Given the description of an element on the screen output the (x, y) to click on. 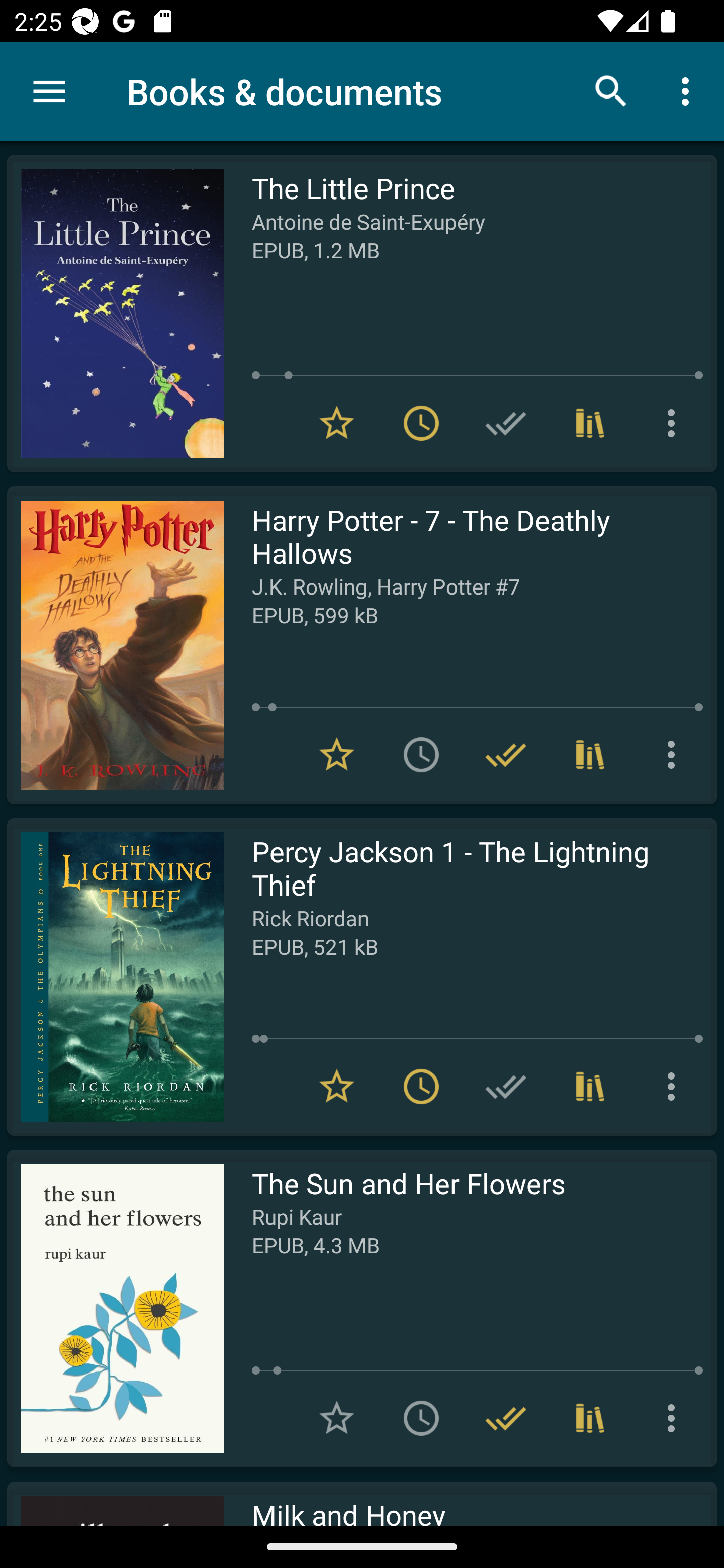
Menu (49, 91)
Search books & documents (611, 90)
More options (688, 90)
Read The Little Prince (115, 313)
Remove from Favorites (336, 423)
Remove from To read (421, 423)
Add to Have read (505, 423)
Collections (1) (590, 423)
More options (674, 423)
Read Harry Potter - 7 - The Deathly Hallows (115, 645)
Remove from Favorites (336, 753)
Add to To read (421, 753)
Remove from Have read (505, 753)
Collections (3) (590, 753)
More options (674, 753)
Read Percy Jackson 1 - The Lightning Thief (115, 976)
Remove from Favorites (336, 1086)
Remove from To read (421, 1086)
Add to Have read (505, 1086)
Collections (1) (590, 1086)
More options (674, 1086)
Read The Sun and Her Flowers (115, 1308)
Add to Favorites (336, 1417)
Add to To read (421, 1417)
Remove from Have read (505, 1417)
Collections (1) (590, 1417)
More options (674, 1417)
